Given the description of an element on the screen output the (x, y) to click on. 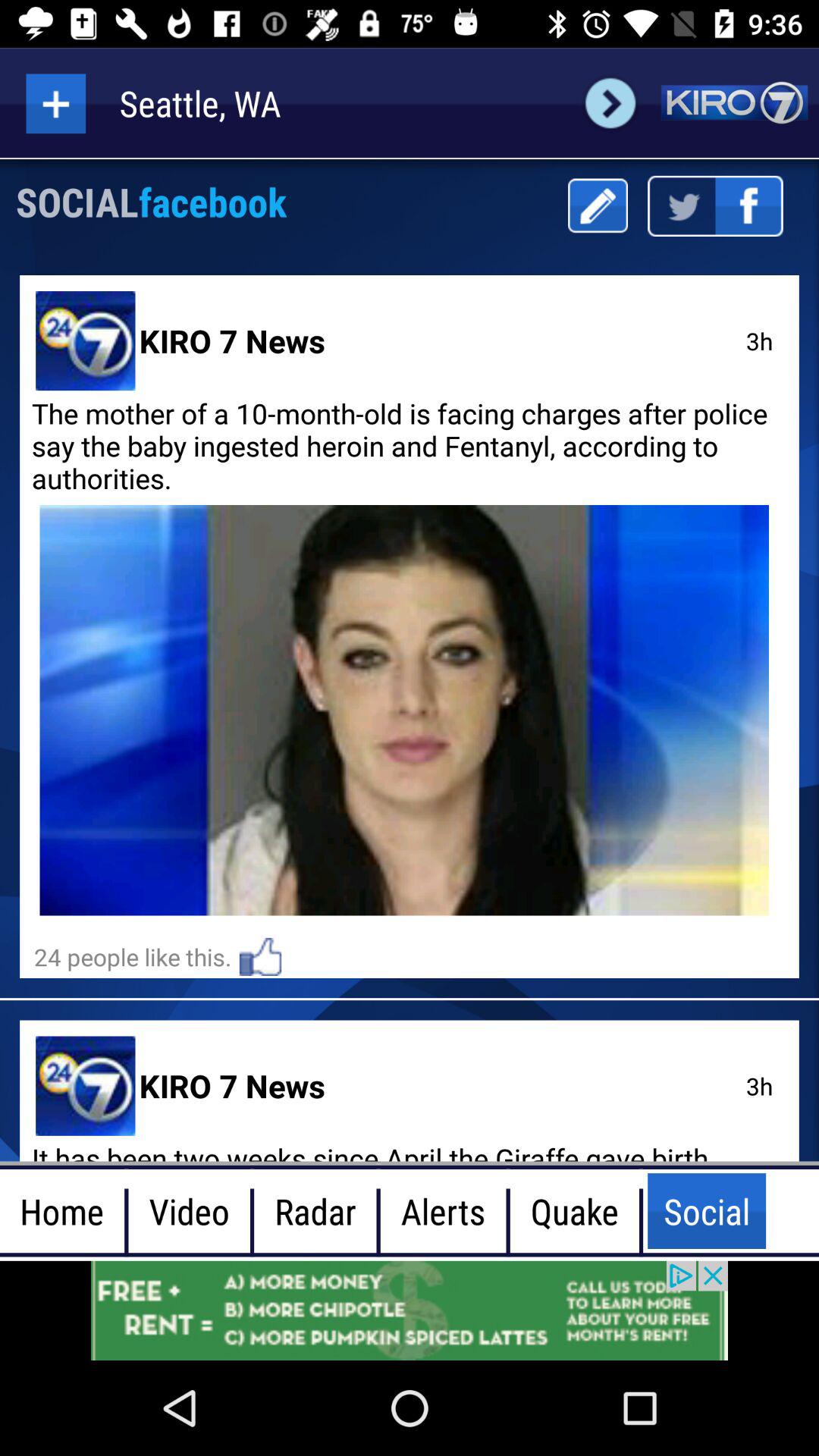
add to feed (55, 103)
